Given the description of an element on the screen output the (x, y) to click on. 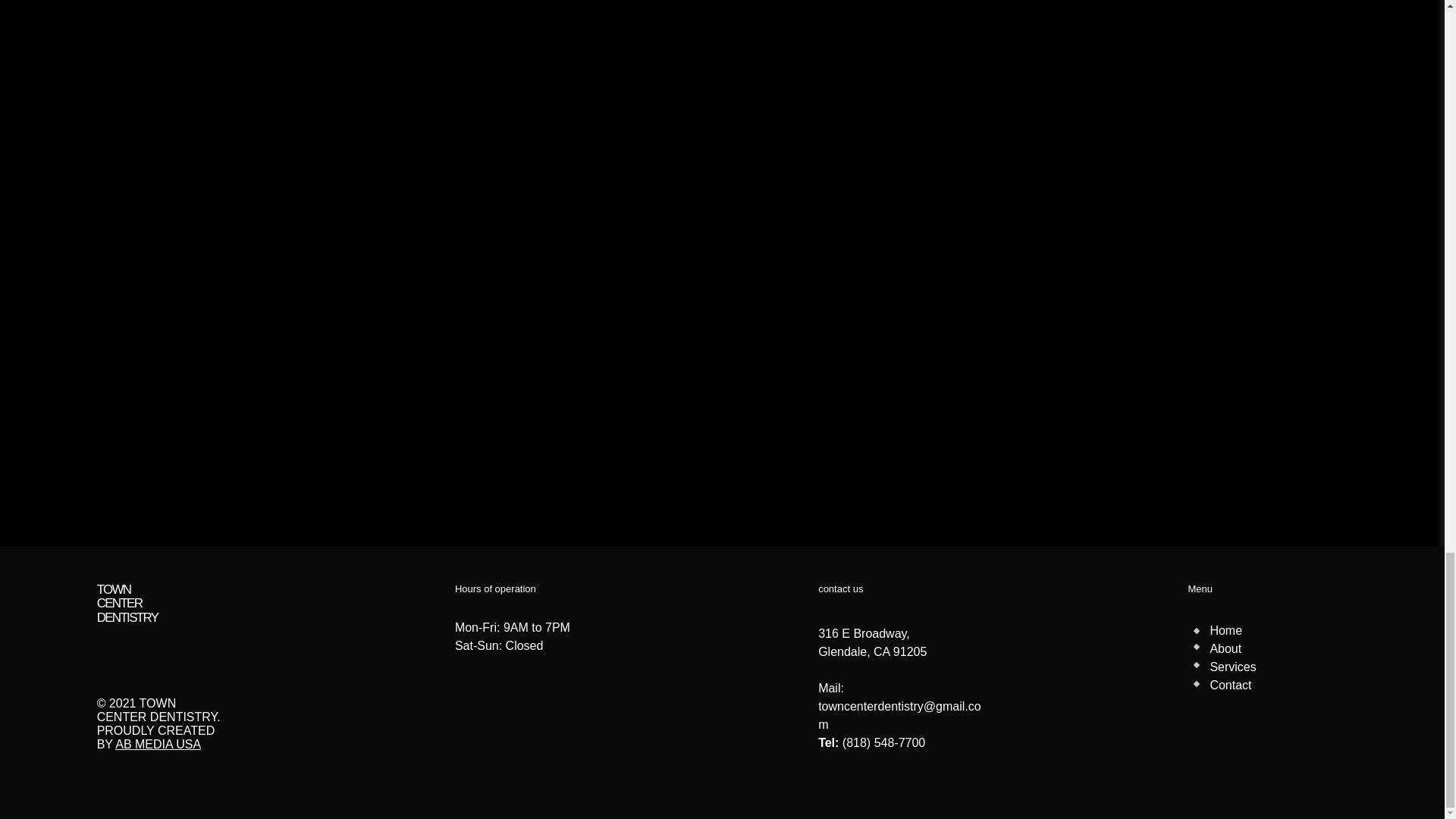
AB MEDIA USA (157, 744)
About (1225, 648)
Services (1232, 666)
TOWN (114, 589)
Contact (1229, 684)
Home (1225, 630)
